Given the description of an element on the screen output the (x, y) to click on. 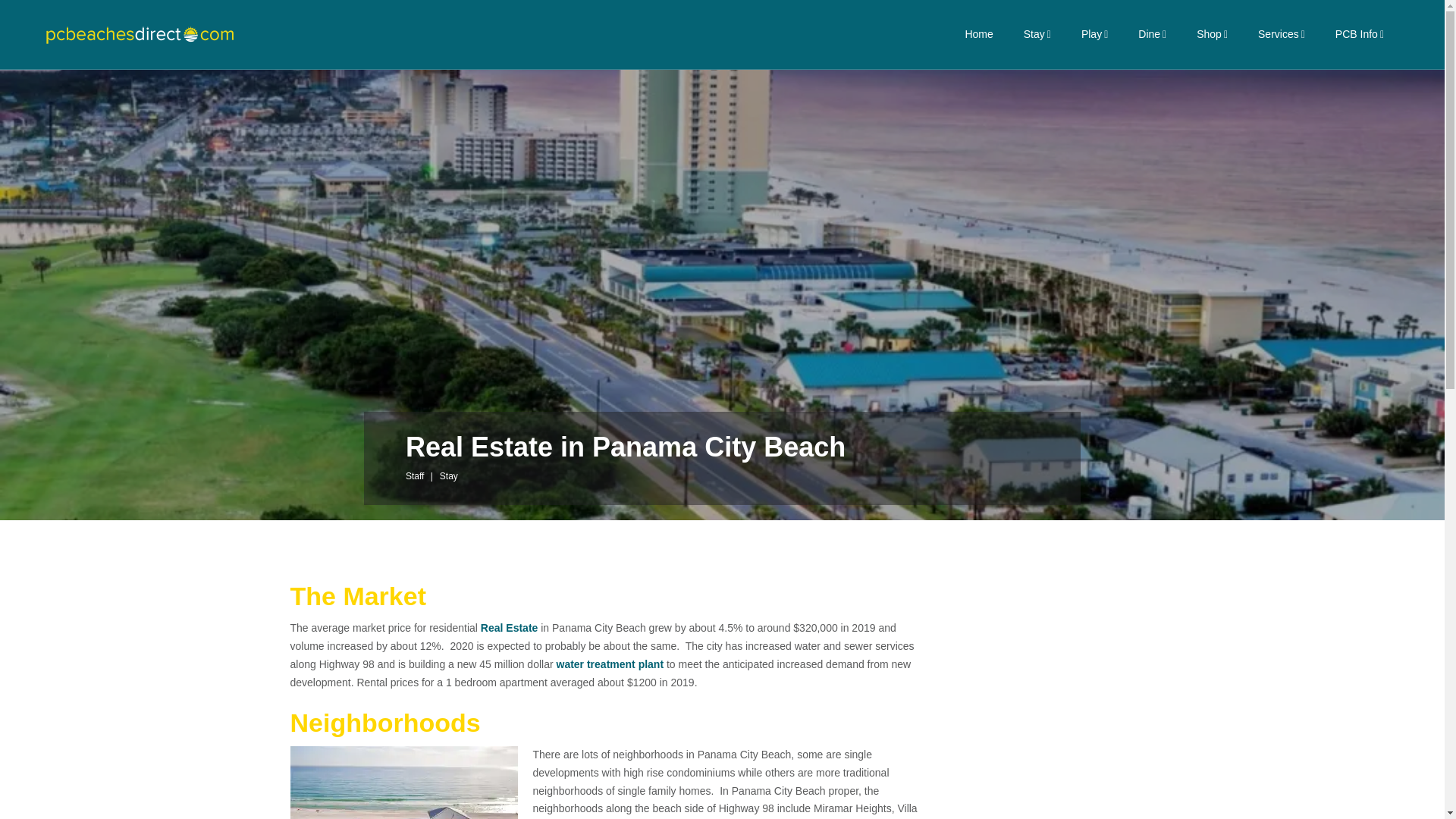
Shop (1211, 34)
